Given the description of an element on the screen output the (x, y) to click on. 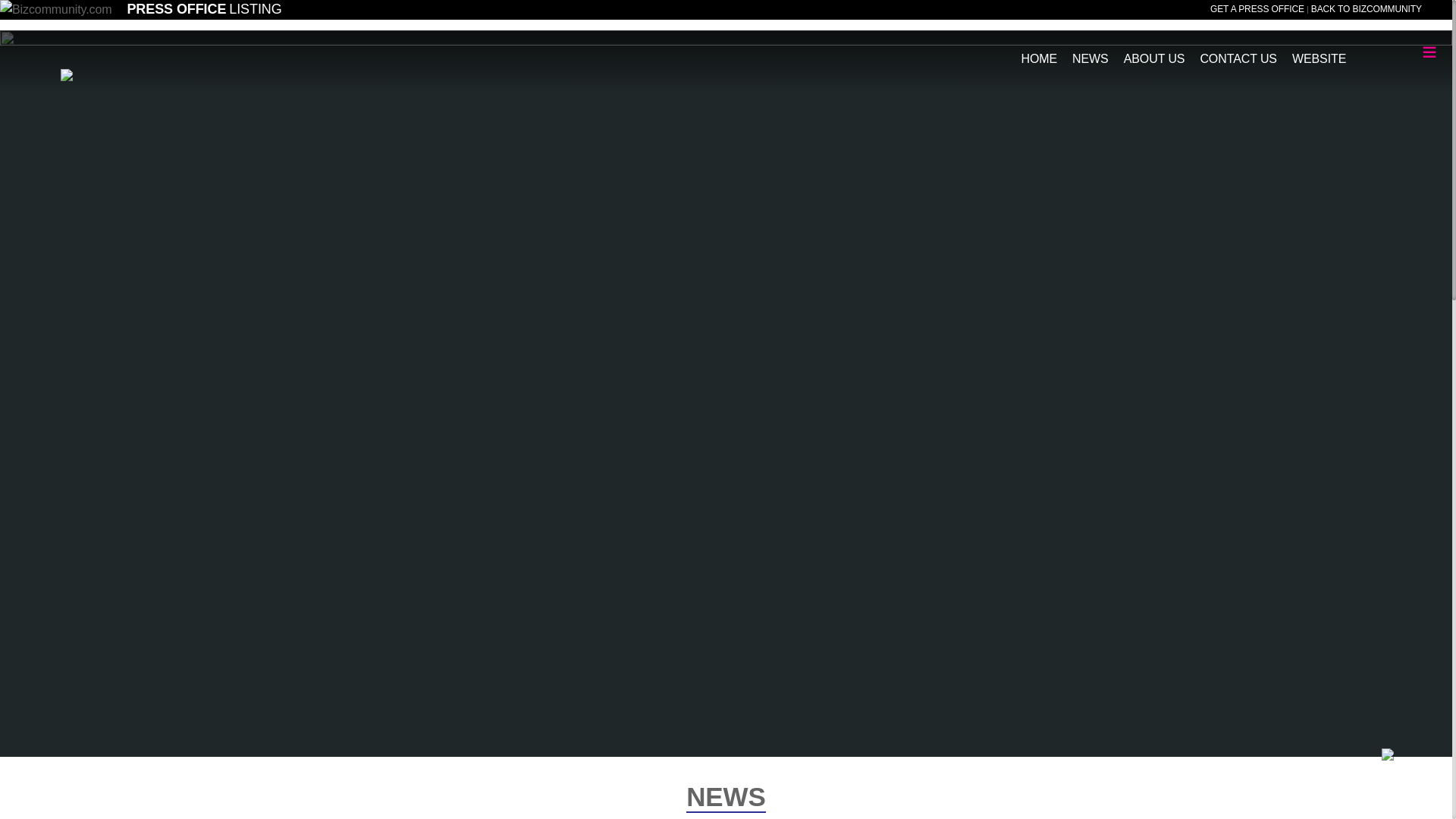
WEBSITE (1318, 52)
GET A PRESS OFFICE (1256, 9)
BACK TO BIZCOMMUNITY (1366, 9)
CONTACT US (1237, 52)
ABOUT US (1154, 52)
